Given the description of an element on the screen output the (x, y) to click on. 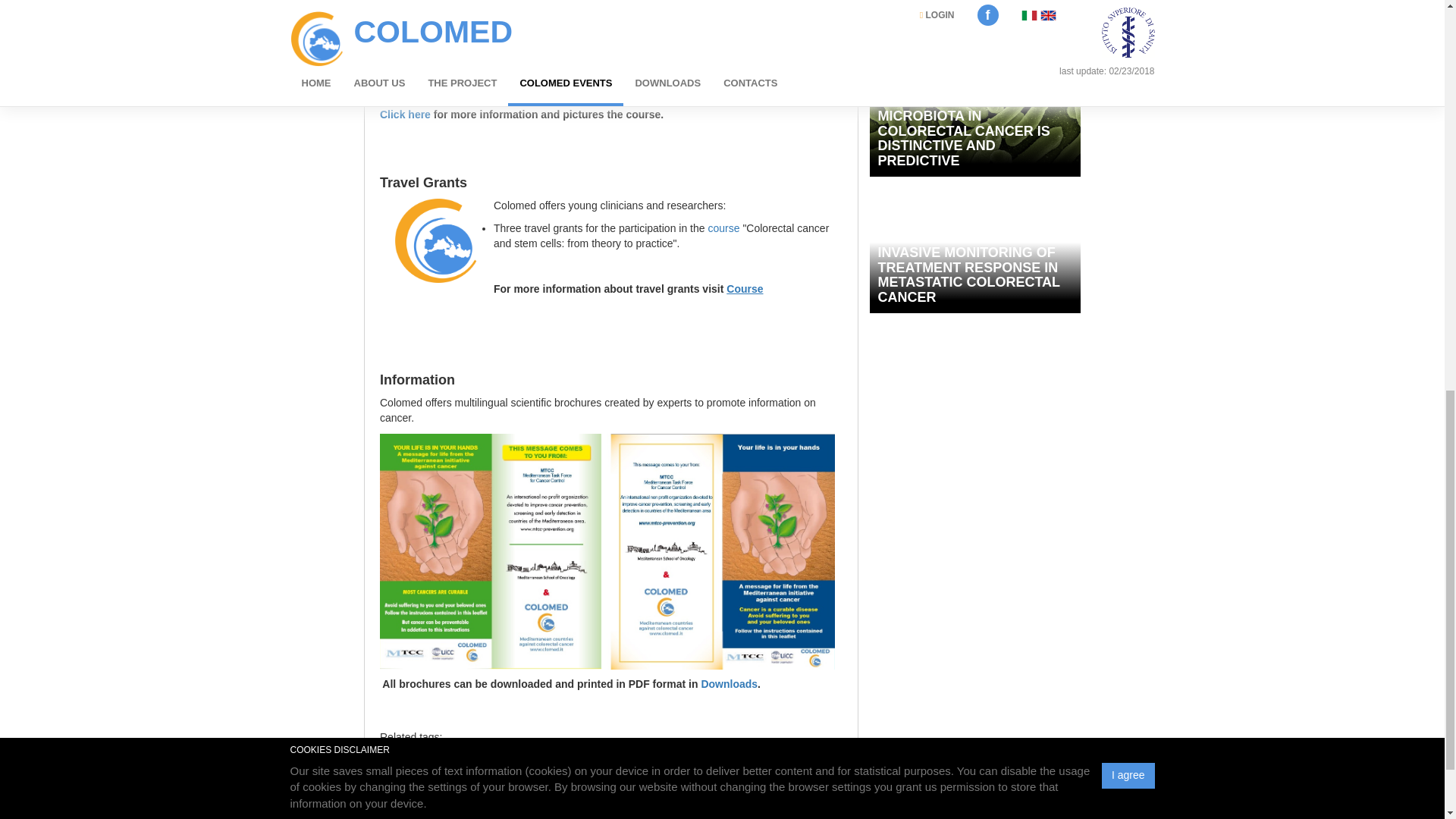
Course (744, 288)
COLOMED (405, 768)
Downloads (728, 684)
Click here (406, 114)
WORKSHOP (518, 768)
COURSE (459, 768)
FELLOWSHIP (643, 768)
course (723, 227)
ABSTRACT (580, 768)
